Given the description of an element on the screen output the (x, y) to click on. 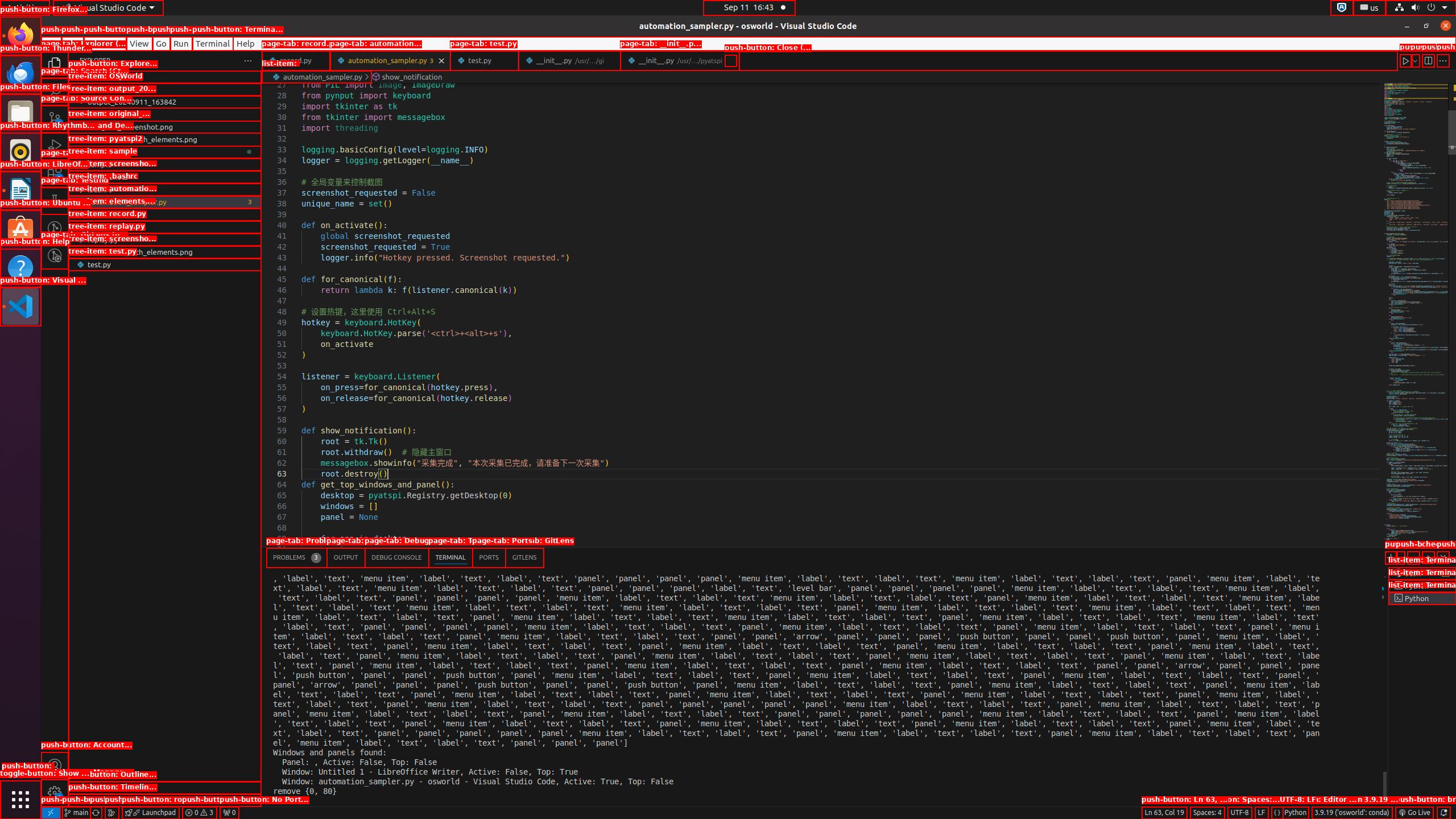
Explorer Section: osworld Element type: push-button (164, 76)
Go Element type: push-button (161, 43)
Firefox Web Browser Element type: push-button (20, 35)
Launch Profile... Element type: push-button (1399, 557)
Accounts Element type: push-button (54, 765)
